Given the description of an element on the screen output the (x, y) to click on. 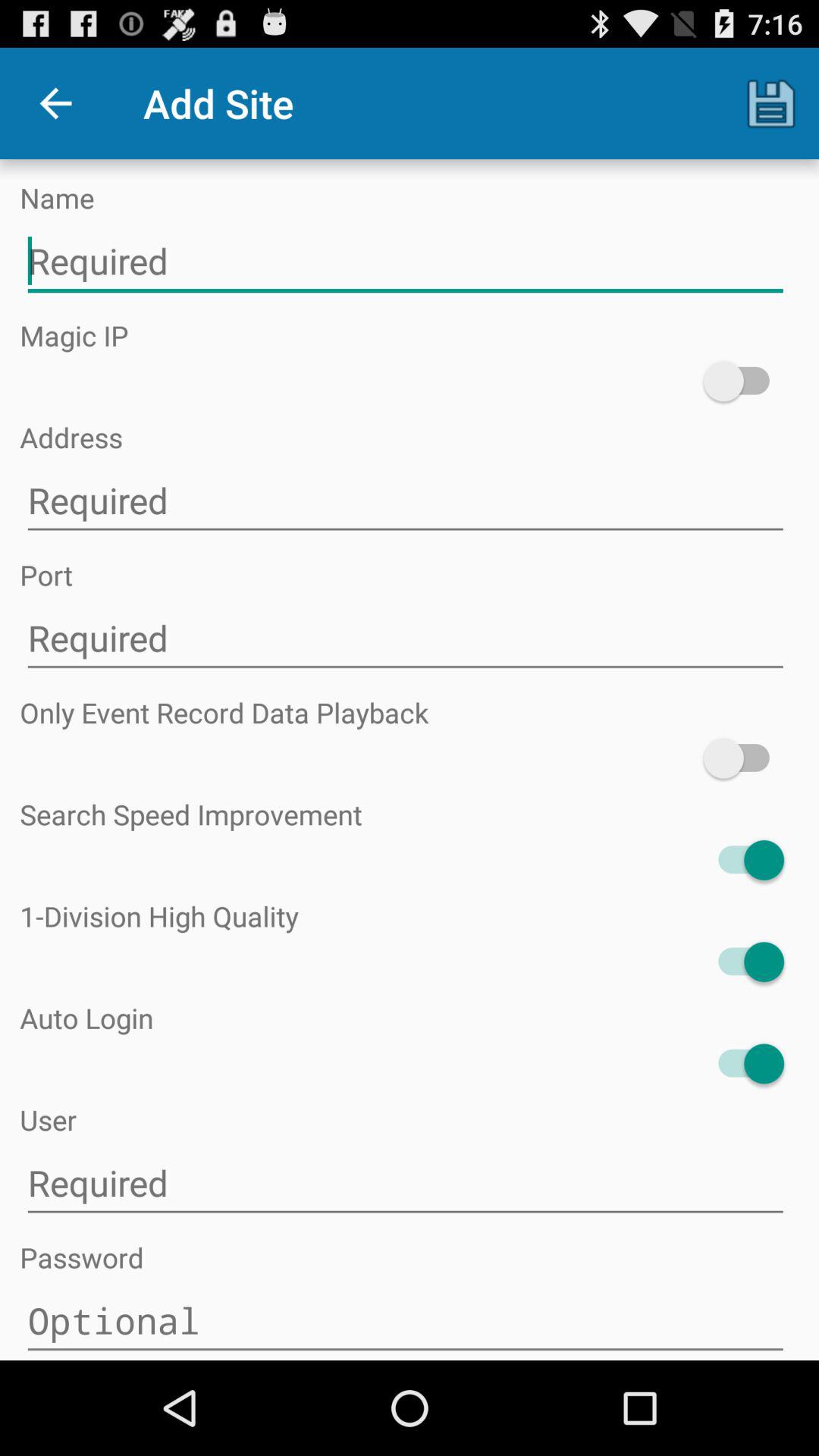
turn on icon above name icon (771, 103)
